Given the description of an element on the screen output the (x, y) to click on. 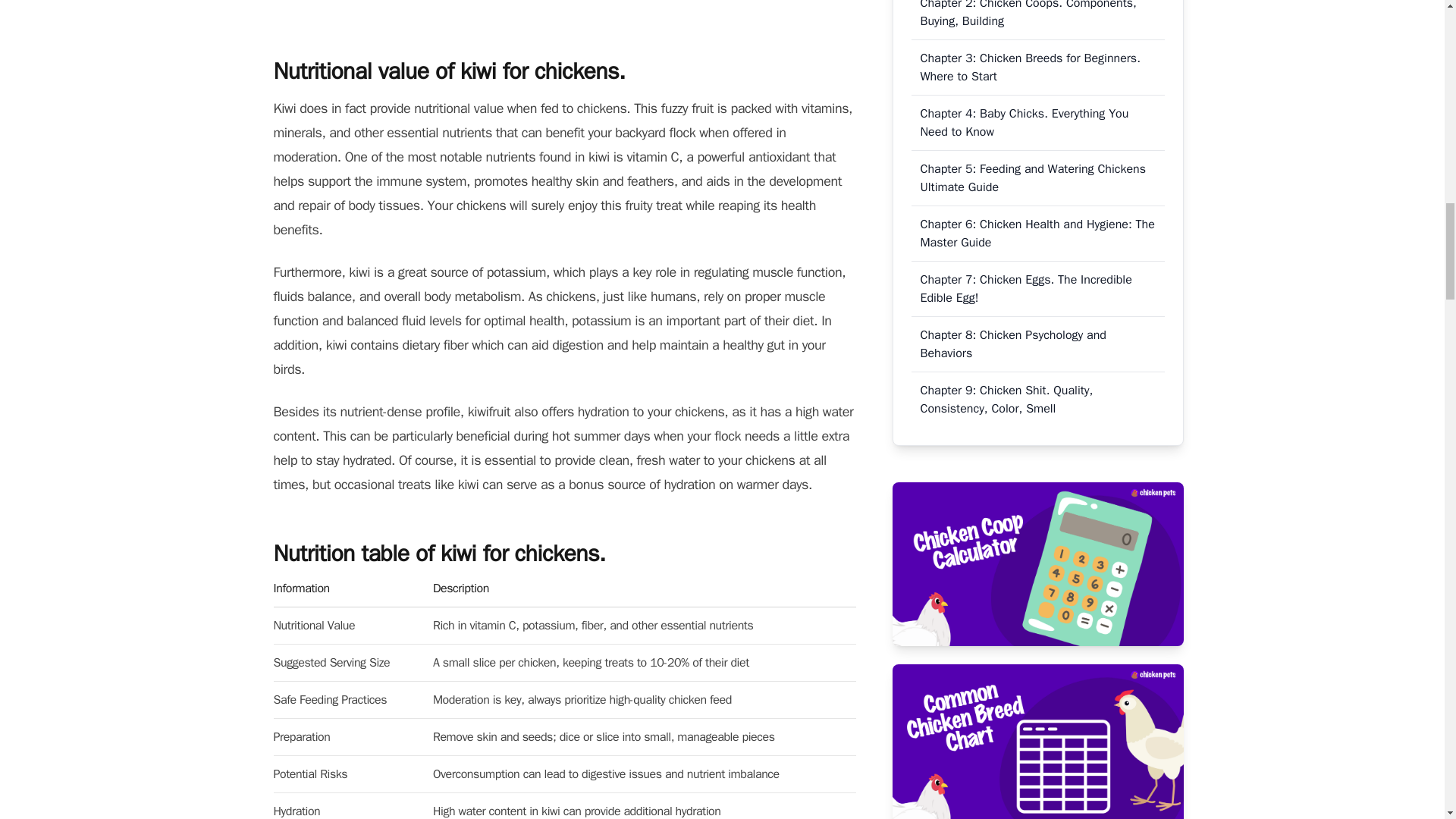
Chicken Coop Calculator (1036, 563)
